Given the description of an element on the screen output the (x, y) to click on. 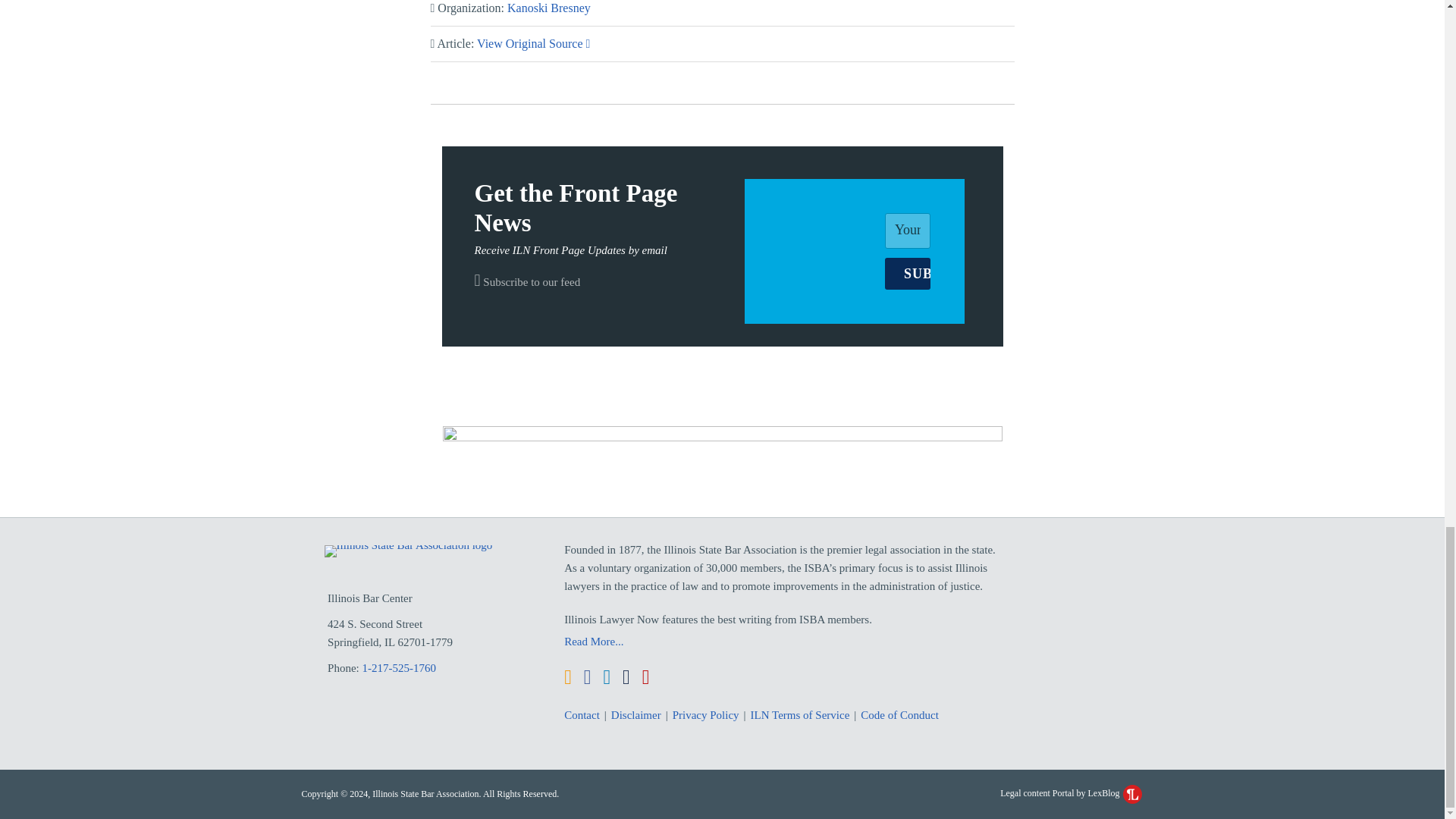
Disclaimer (636, 714)
Read More... (786, 641)
LexBlog Logo (1131, 793)
View Original Source (533, 42)
1-217-525-1760 (399, 667)
Kanoski Bresney (548, 7)
Contact (581, 714)
SUBSCRIBE (907, 273)
Subscribe to our feed (527, 282)
SUBSCRIBE (907, 273)
